Given the description of an element on the screen output the (x, y) to click on. 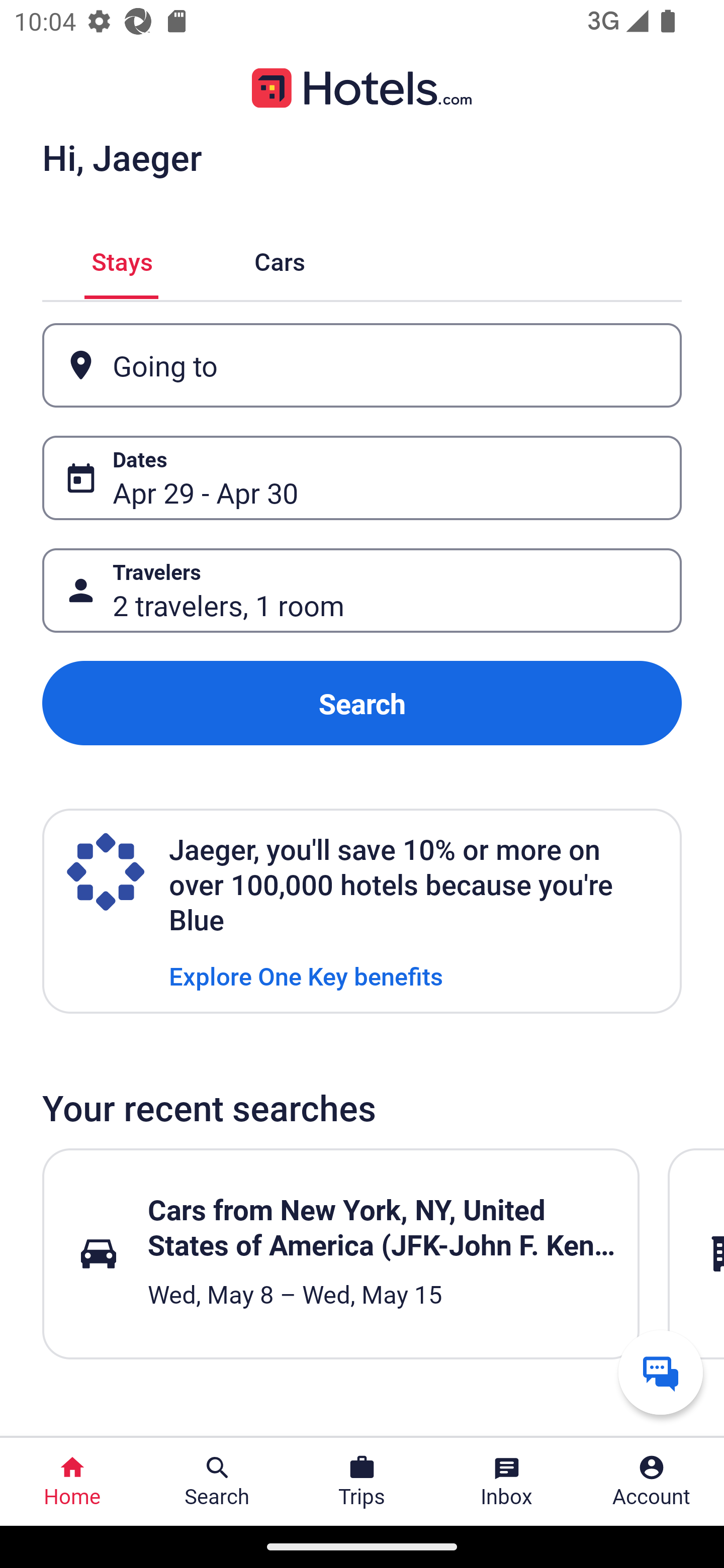
Hi, Jaeger (121, 156)
Cars (279, 259)
Going to Button (361, 365)
Dates Button Apr 29 - Apr 30 (361, 477)
Travelers Button 2 travelers, 1 room (361, 590)
Search (361, 702)
Get help from a virtual agent (660, 1371)
Search Search Button (216, 1481)
Trips Trips Button (361, 1481)
Inbox Inbox Button (506, 1481)
Account Profile. Button (651, 1481)
